Given the description of an element on the screen output the (x, y) to click on. 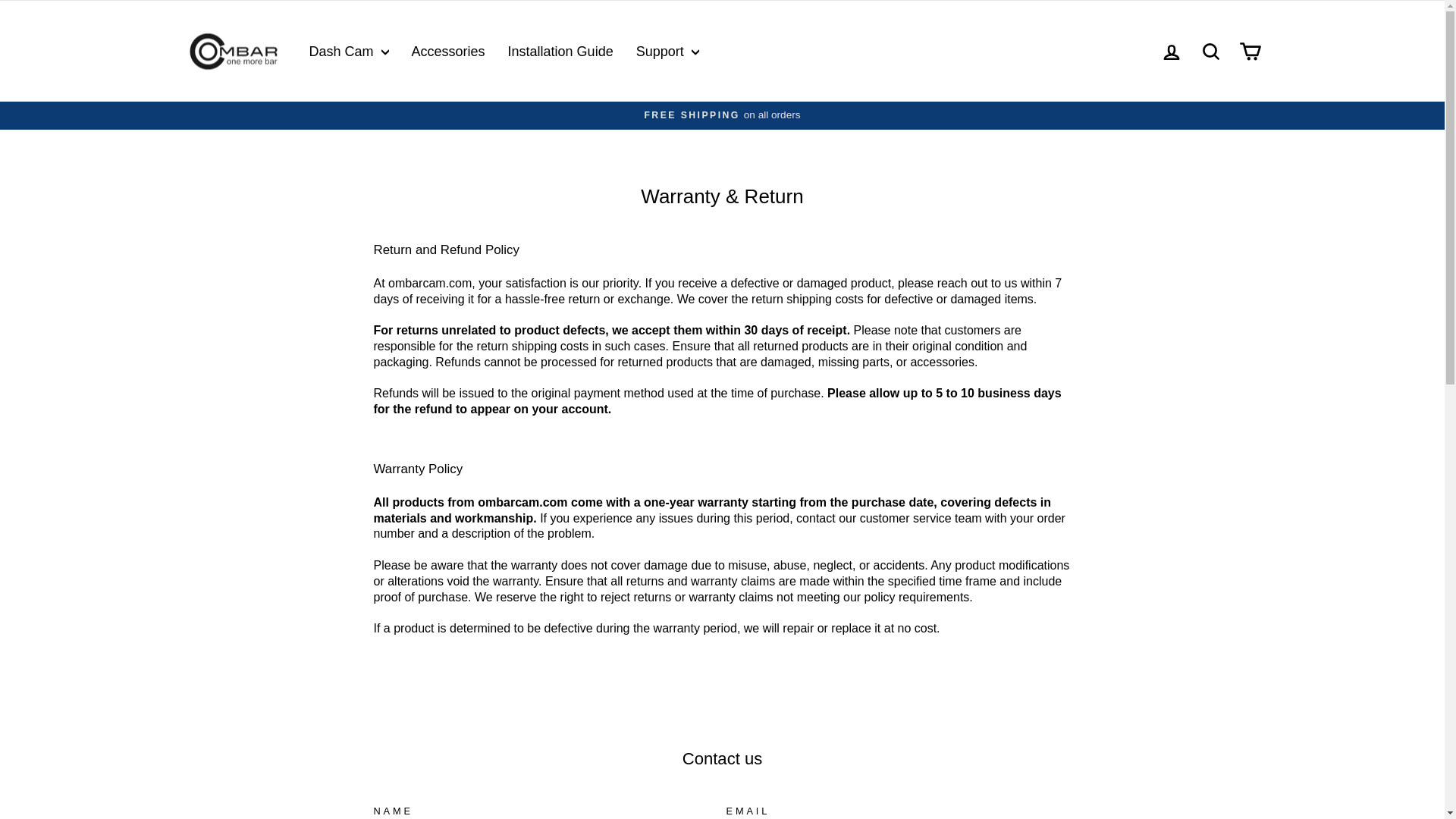
Accessories (448, 50)
Installation Guide (560, 50)
account (1170, 52)
icon-search (1210, 51)
